Given the description of an element on the screen output the (x, y) to click on. 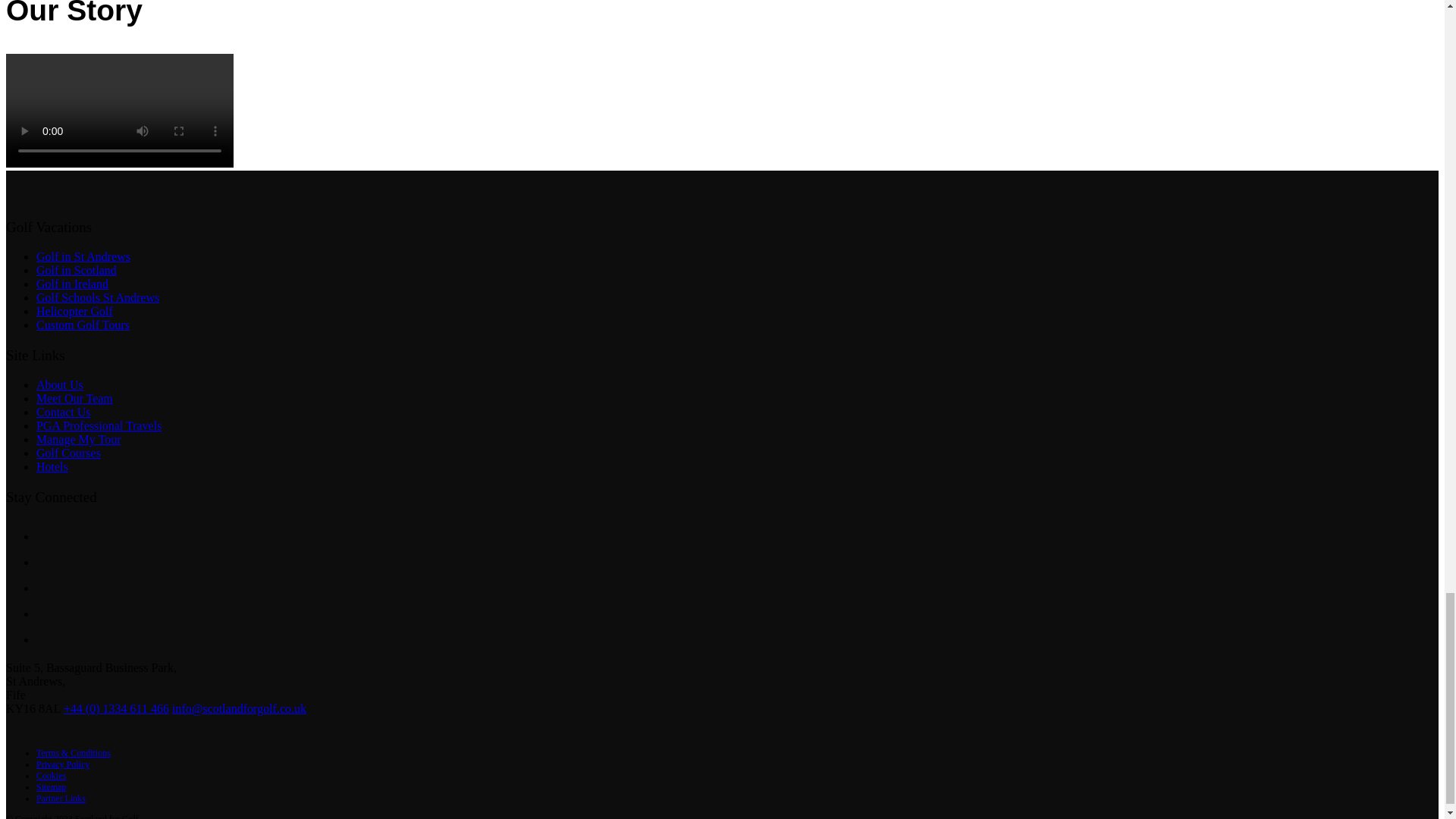
We offer a wide range of Golf Courses on our Vacations (68, 452)
PGA Professional Travels (98, 425)
Manage My Tour (78, 439)
Custom Golf Tours in St Andrews (82, 324)
Meet Our Team (74, 398)
Golf in St Andrews (83, 256)
Contact a Golf Professionals (63, 411)
Golf Vacations Worldwide (74, 398)
About Us (59, 384)
Our Manage my Tour Platform (78, 439)
Golf Courses (68, 452)
Golf Vacations in Scotland (76, 269)
Contact Us (63, 411)
Golf in Ireland (71, 283)
Golf Vacations in St Andrews (83, 256)
